Given the description of an element on the screen output the (x, y) to click on. 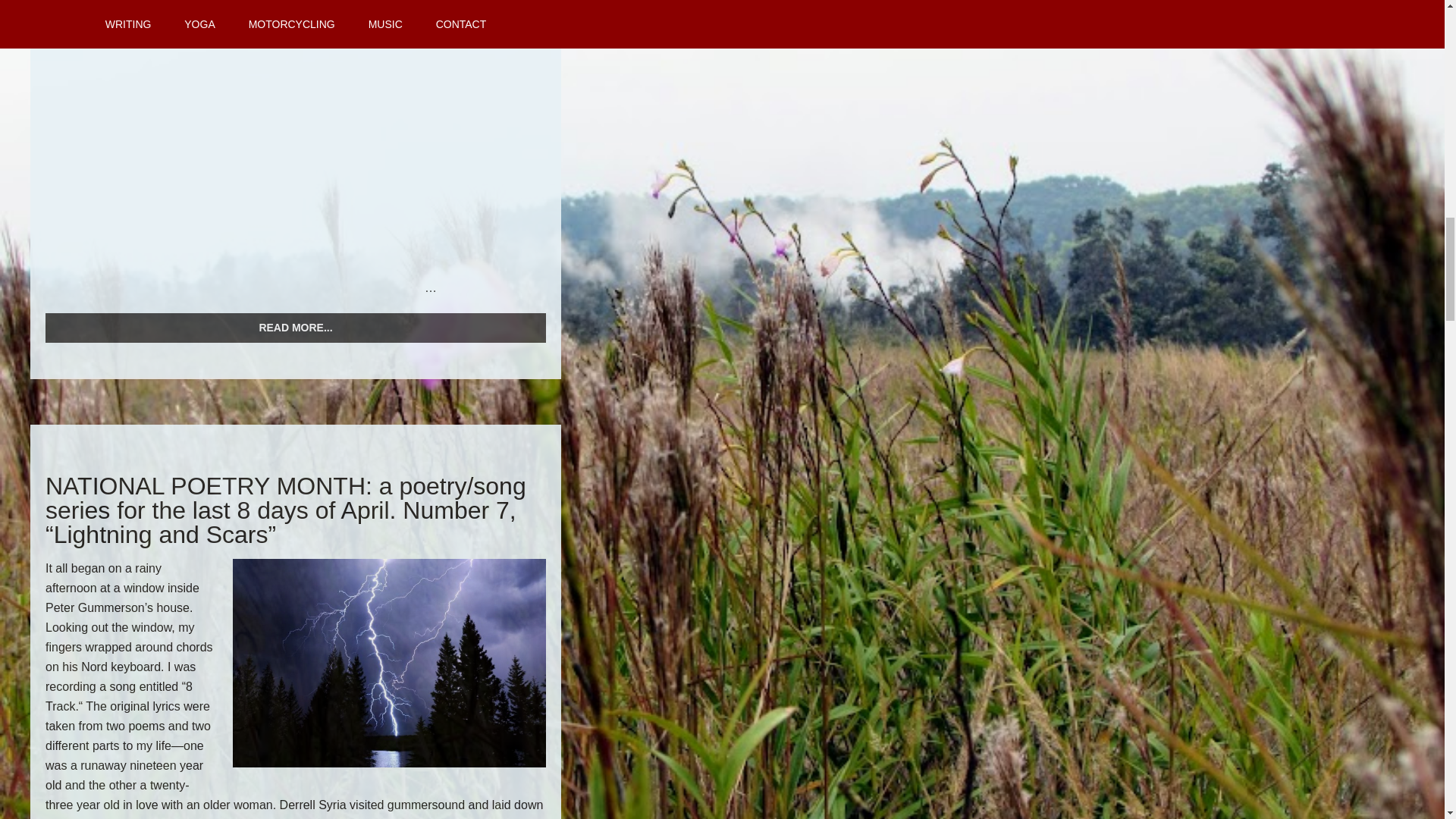
READ MORE... (295, 327)
Star of the County Down by Gregory Ormson (235, 145)
